Given the description of an element on the screen output the (x, y) to click on. 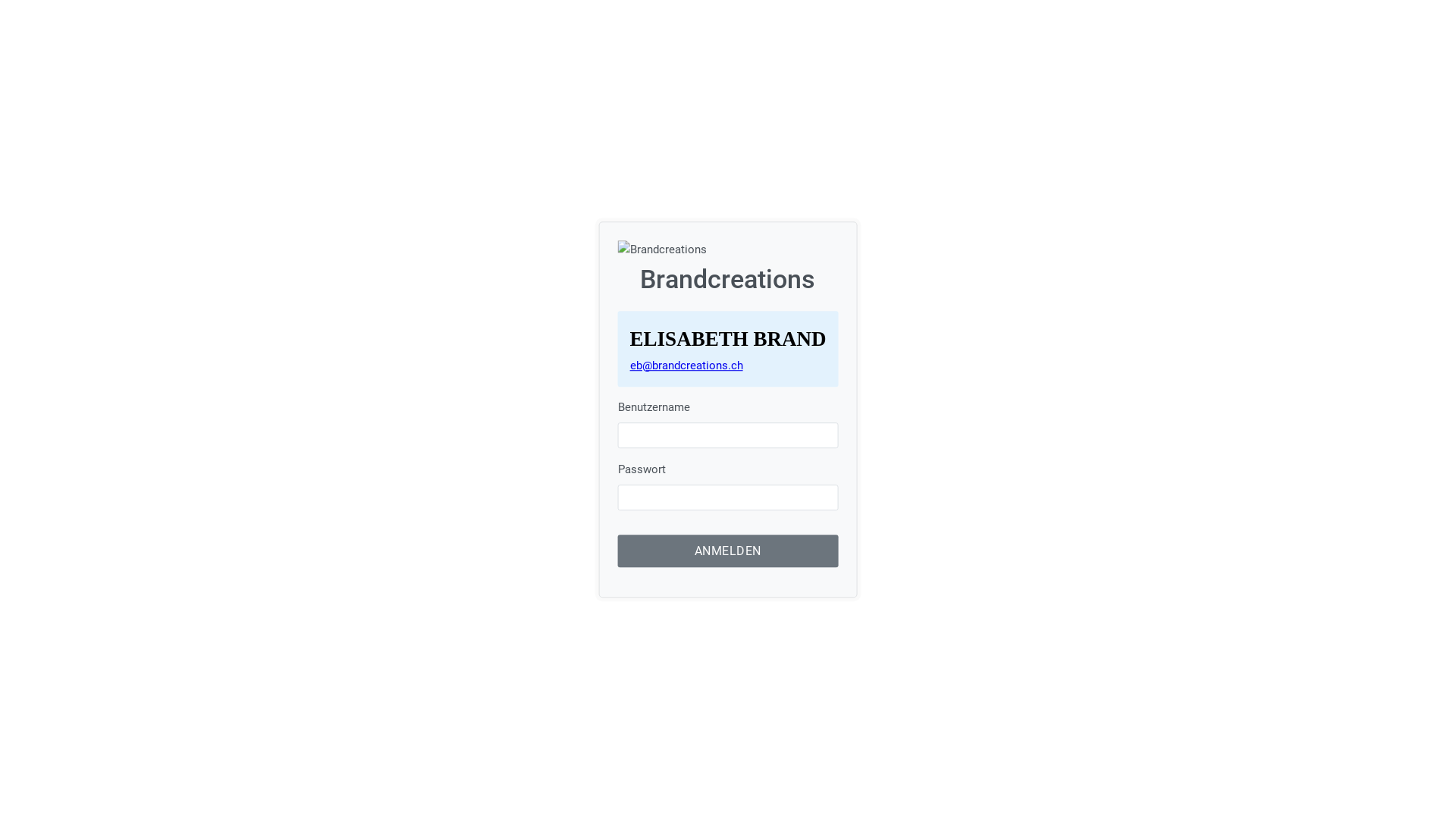
Anmelden Element type: text (728, 550)
eb@brandcreations.ch Element type: text (686, 365)
